Given the description of an element on the screen output the (x, y) to click on. 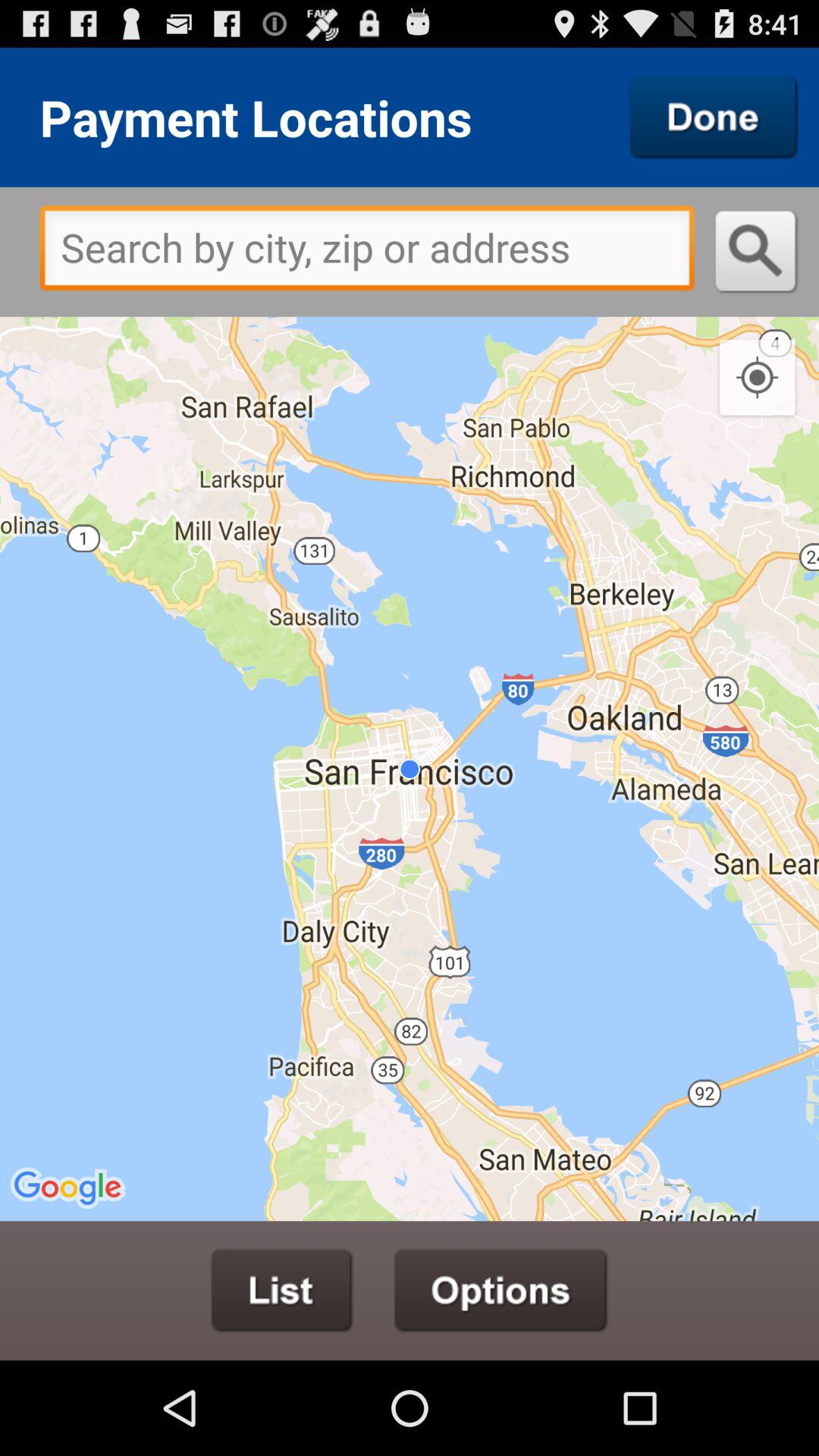
enter city zip or address to search (366, 251)
